Given the description of an element on the screen output the (x, y) to click on. 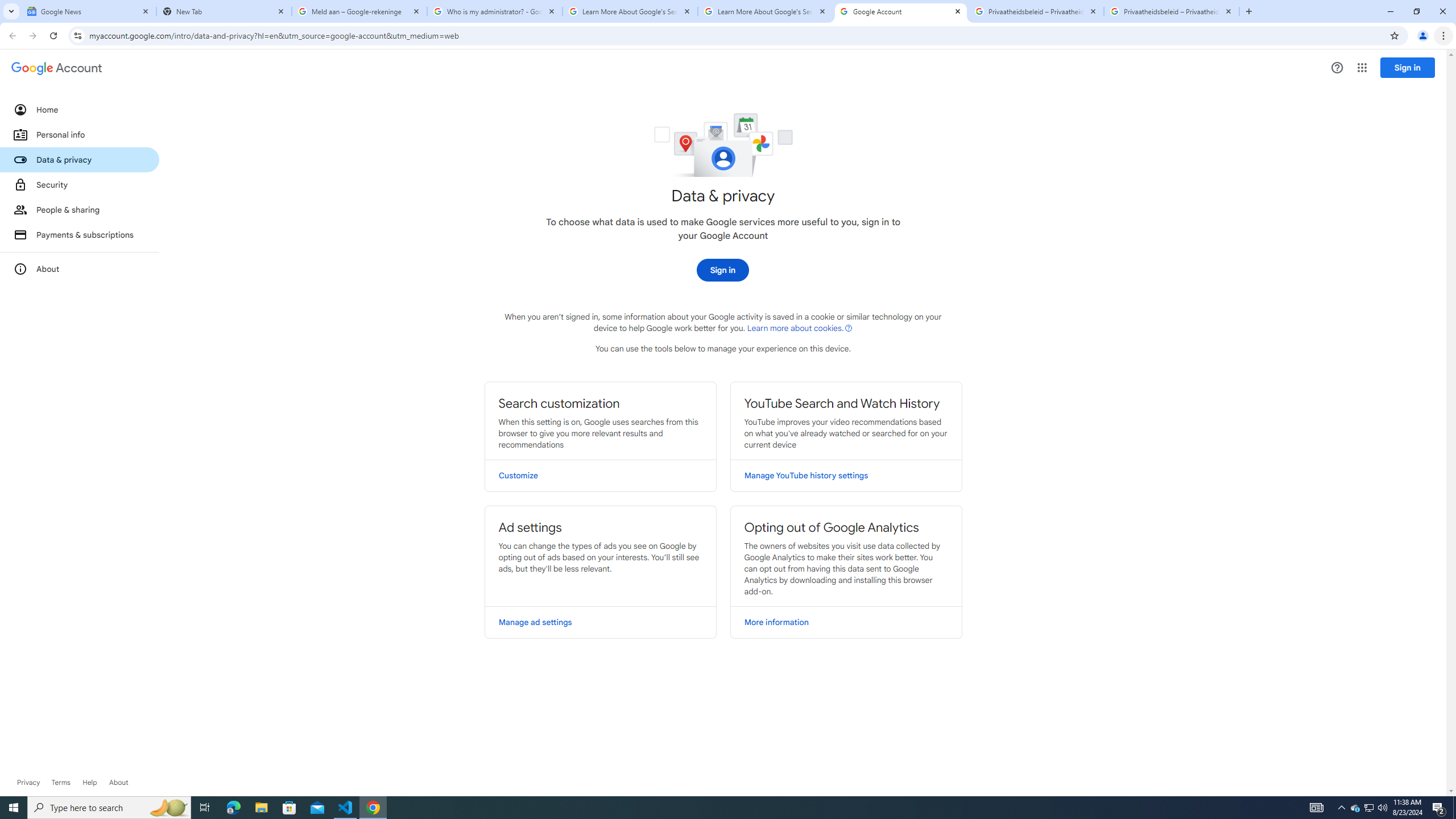
People & sharing (79, 209)
Manage YouTube history settings (846, 475)
Google Account settings (56, 68)
Who is my administrator? - Google Account Help (494, 11)
